Given the description of an element on the screen output the (x, y) to click on. 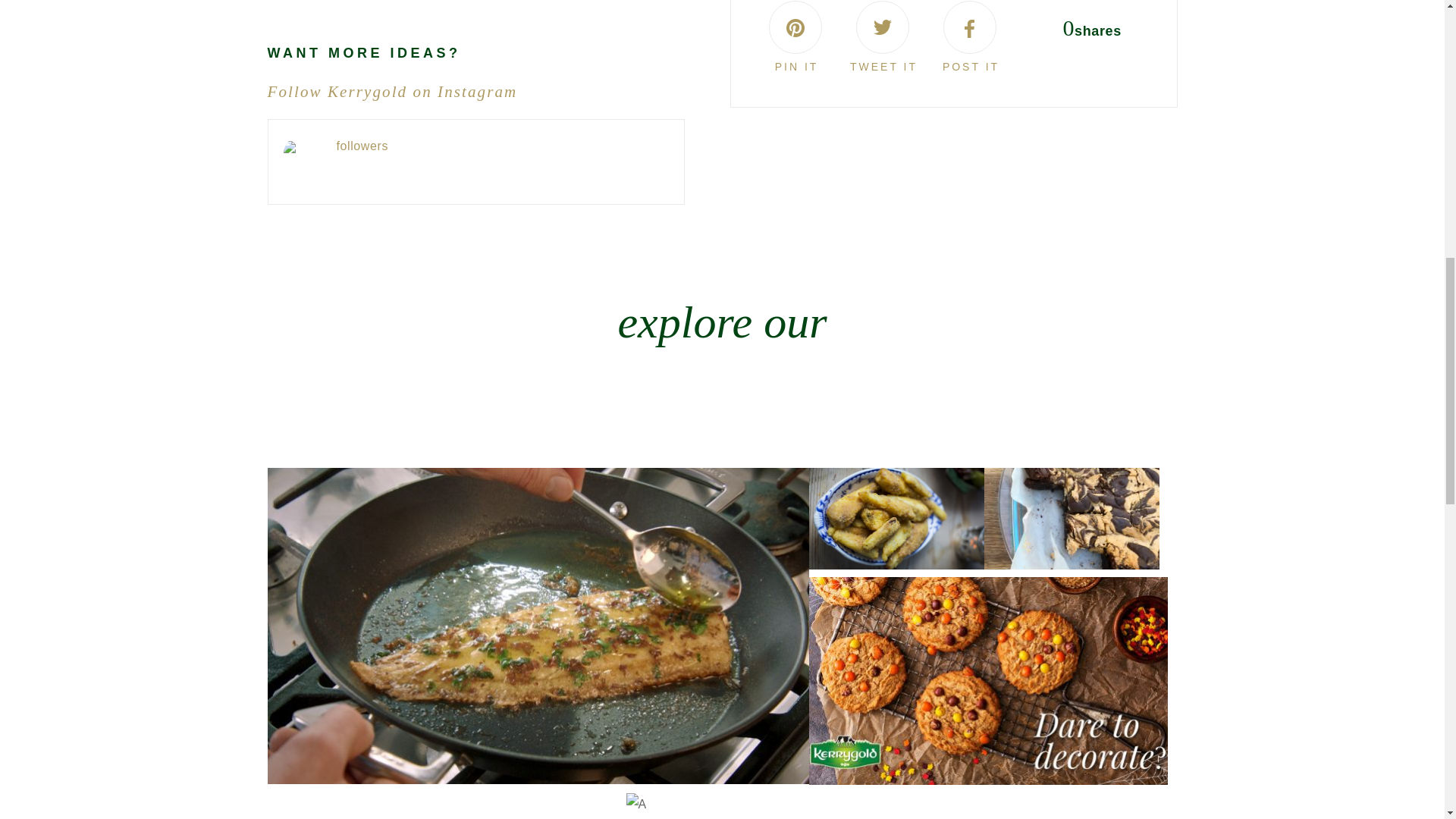
Roasted Buttery Parmesan Parsnips (896, 518)
Banoffee Pie (882, 27)
Banoffee Pie (795, 27)
Banoffee Pie (969, 27)
